Given the description of an element on the screen output the (x, y) to click on. 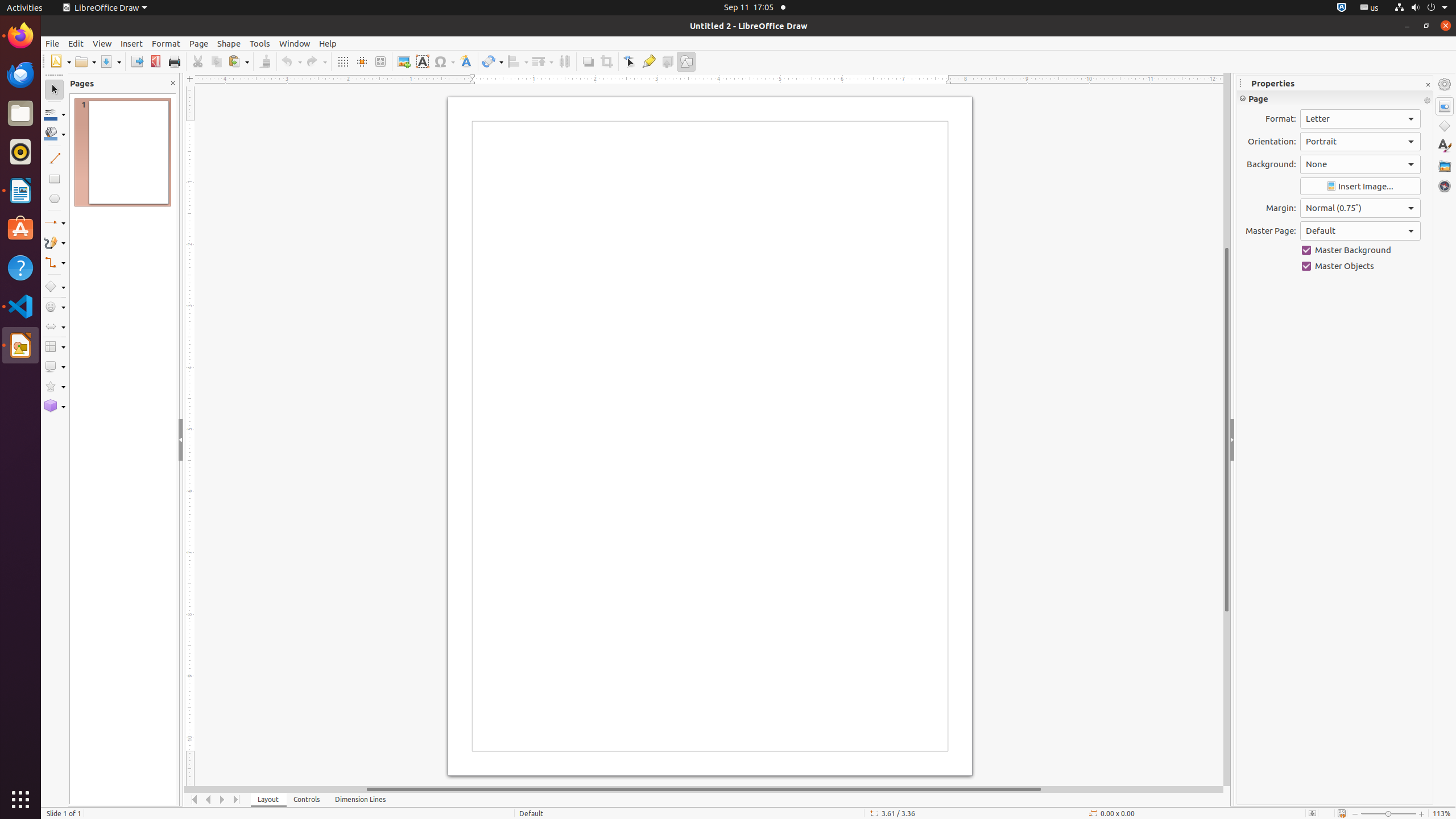
:1.72/StatusNotifierItem Element type: menu (1341, 7)
Star Shapes Element type: push-button (54, 386)
Gallery Element type: radio-button (1444, 165)
Text Box Element type: push-button (421, 61)
Paste Element type: push-button (237, 61)
